Given the description of an element on the screen output the (x, y) to click on. 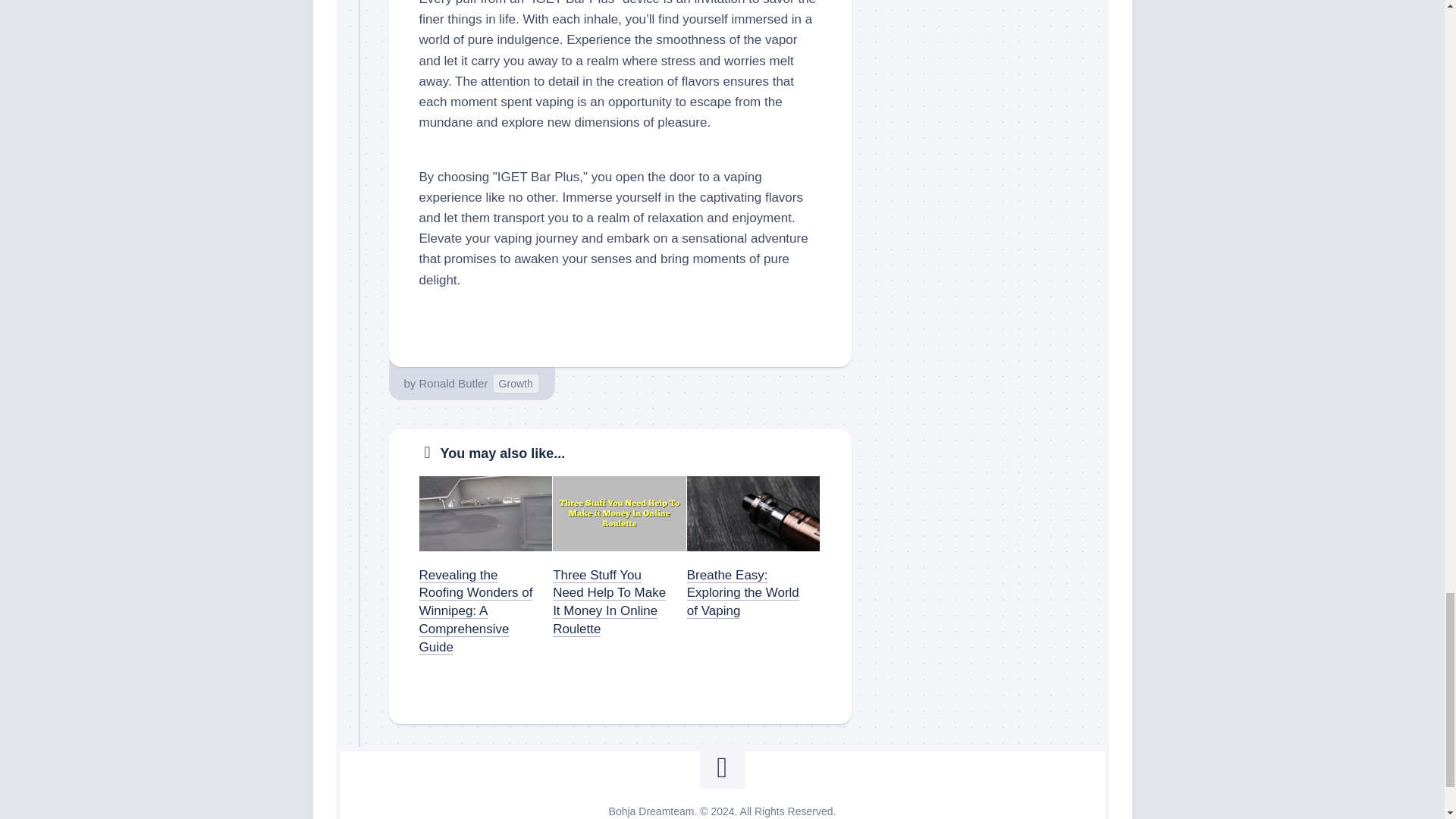
Breathe Easy: Exploring the World of Vaping (743, 592)
Ronald Butler (453, 382)
Posts by Ronald Butler (453, 382)
Growth (515, 383)
